Given the description of an element on the screen output the (x, y) to click on. 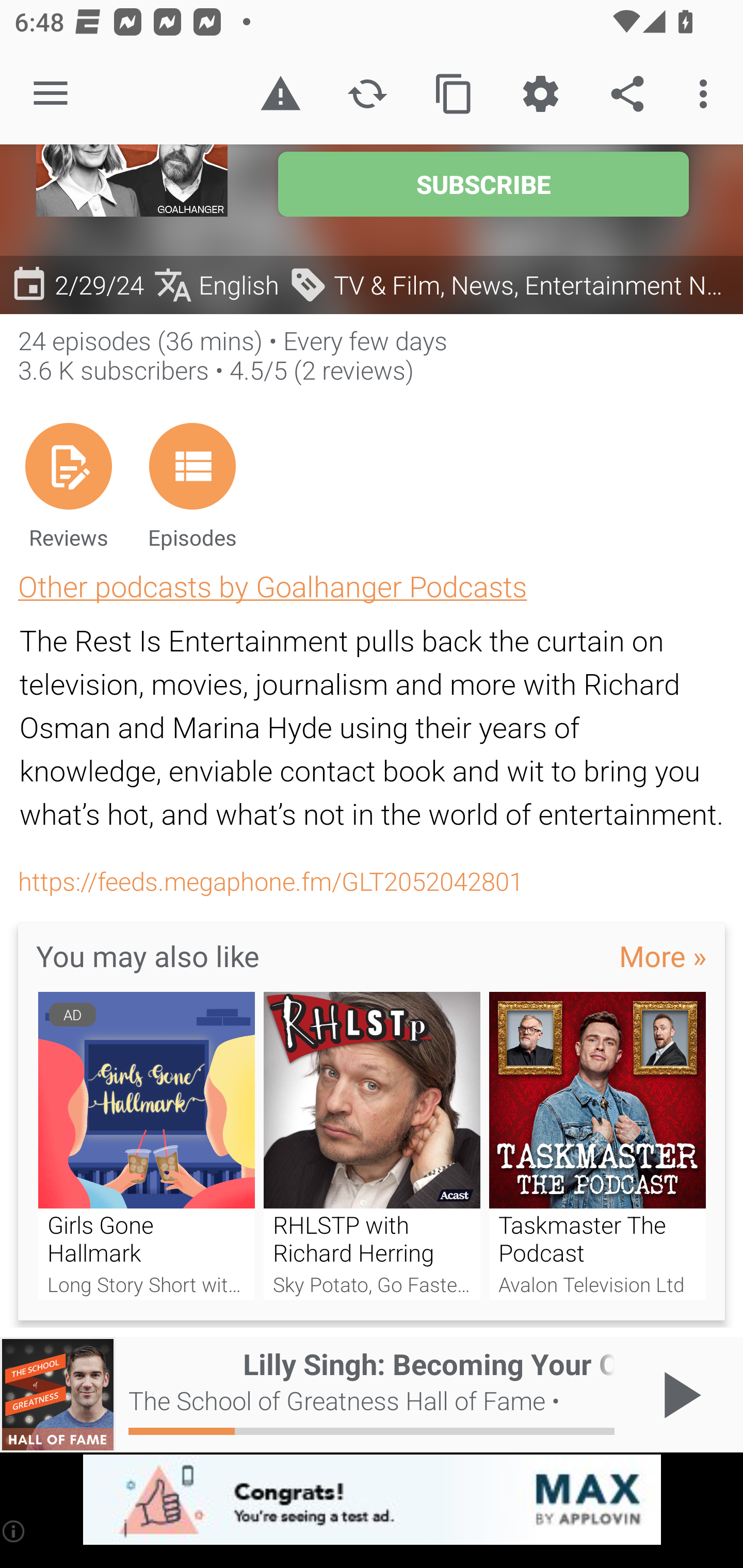
Open navigation sidebar (50, 93)
Report inappropriate content (280, 93)
Refresh podcast description (366, 93)
Copy feed url to clipboard (453, 93)
Custom Settings (540, 93)
Share the podcast (626, 93)
More options (706, 93)
SUBSCRIBE (482, 184)
TV & Film, News, Entertainment News, Arts, Books (511, 284)
Reviews (68, 485)
Episodes (192, 485)
Other podcasts by Goalhanger Podcasts (272, 585)
More » (662, 955)
Taskmaster The Podcast Avalon Television Ltd (596, 1145)
Play / Pause (677, 1394)
app-monetization (371, 1500)
(i) (14, 1531)
